Given the description of an element on the screen output the (x, y) to click on. 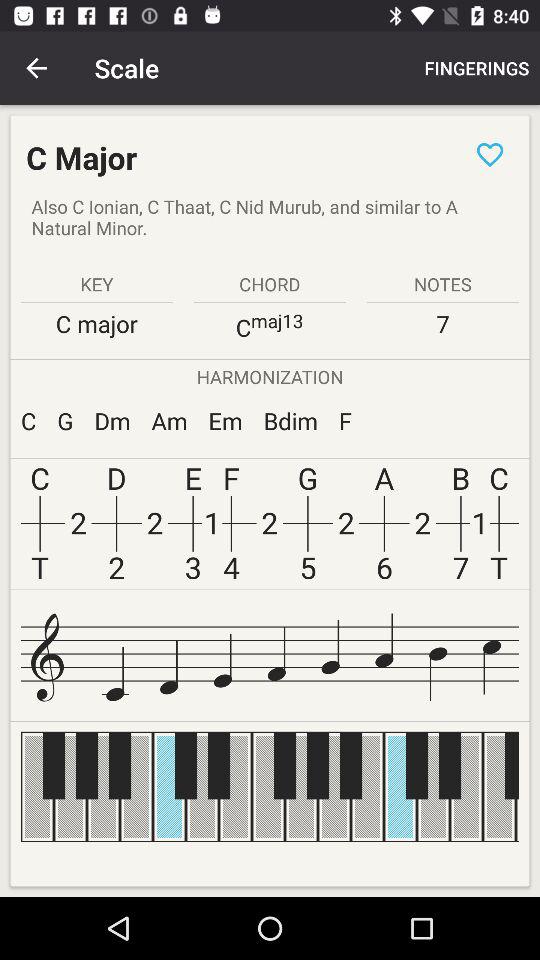
click the icon to the right of scale icon (476, 67)
